Given the description of an element on the screen output the (x, y) to click on. 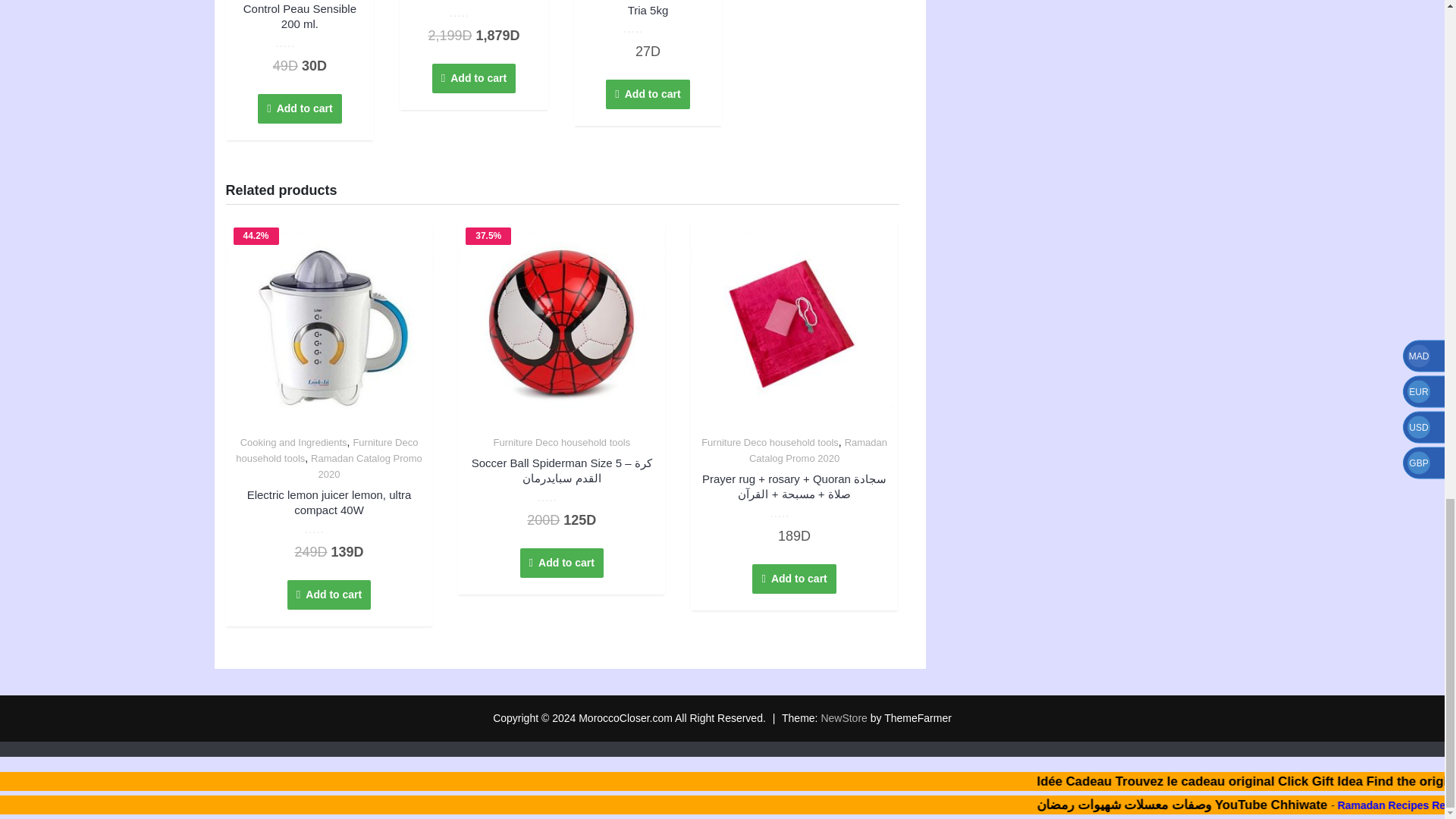
Add to cart (298, 108)
Add to cart (647, 31)
Add to cart (646, 93)
